Given the description of an element on the screen output the (x, y) to click on. 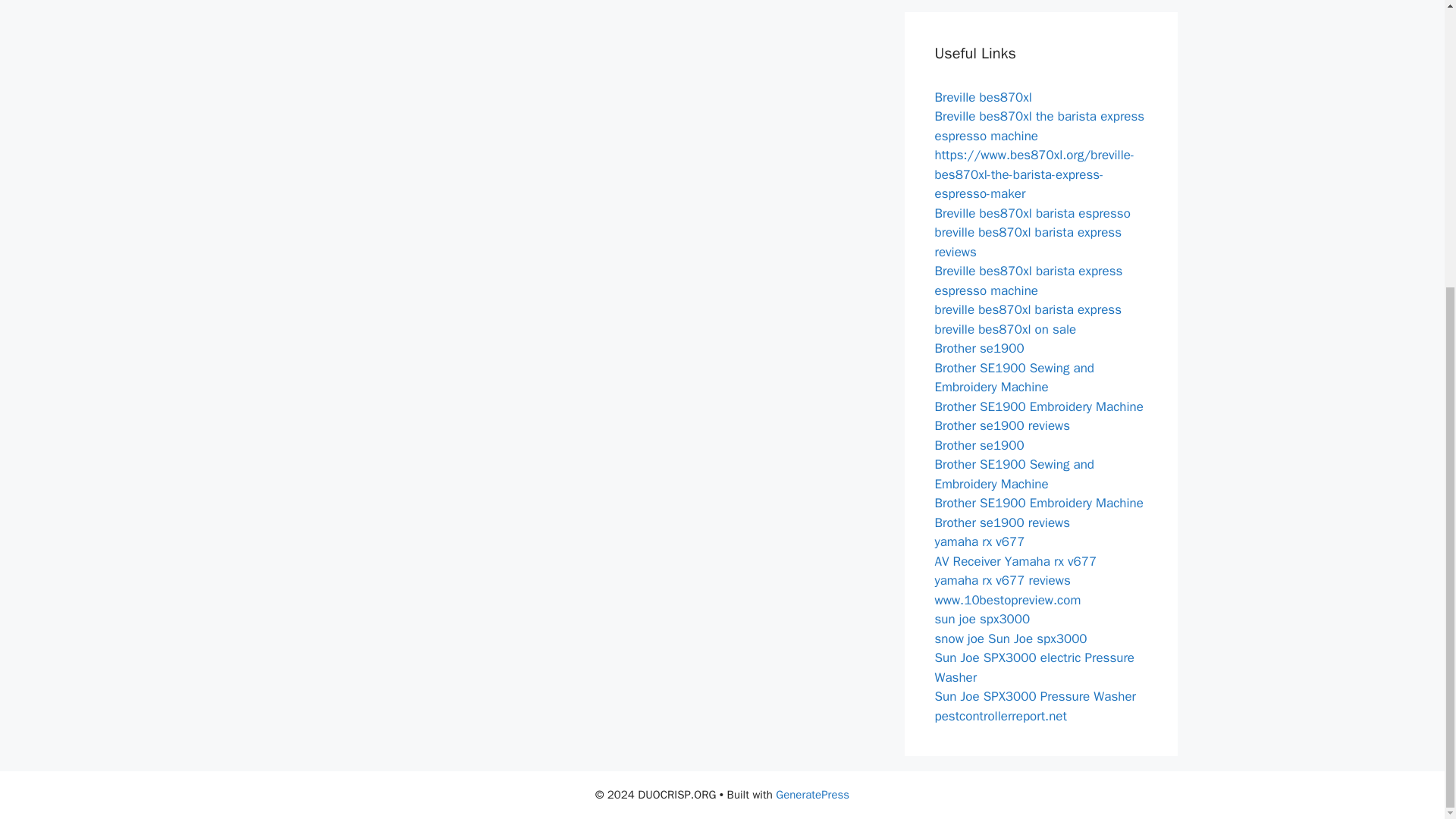
pestcontrollerreport.net (999, 715)
yamaha rx v677 reviews (1002, 580)
Brother se1900 (978, 348)
Breville bes870xl barista express espresso machine (1028, 280)
Sun Joe SPX3000 Pressure Washer (1034, 696)
Brother SE1900 Embroidery Machine (1038, 406)
Breville bes870xl barista espresso (1031, 212)
breville bes870xl barista express (1027, 309)
GeneratePress (812, 794)
Brother se1900 reviews (1002, 521)
Breville bes870xl the barista express espresso machine (1039, 126)
breville bes870xl on sale (1004, 329)
Brother SE1900 Embroidery Machine (1038, 503)
snow joe Sun Joe spx3000 (1010, 638)
www.10bestopreview.com (1007, 599)
